Given the description of an element on the screen output the (x, y) to click on. 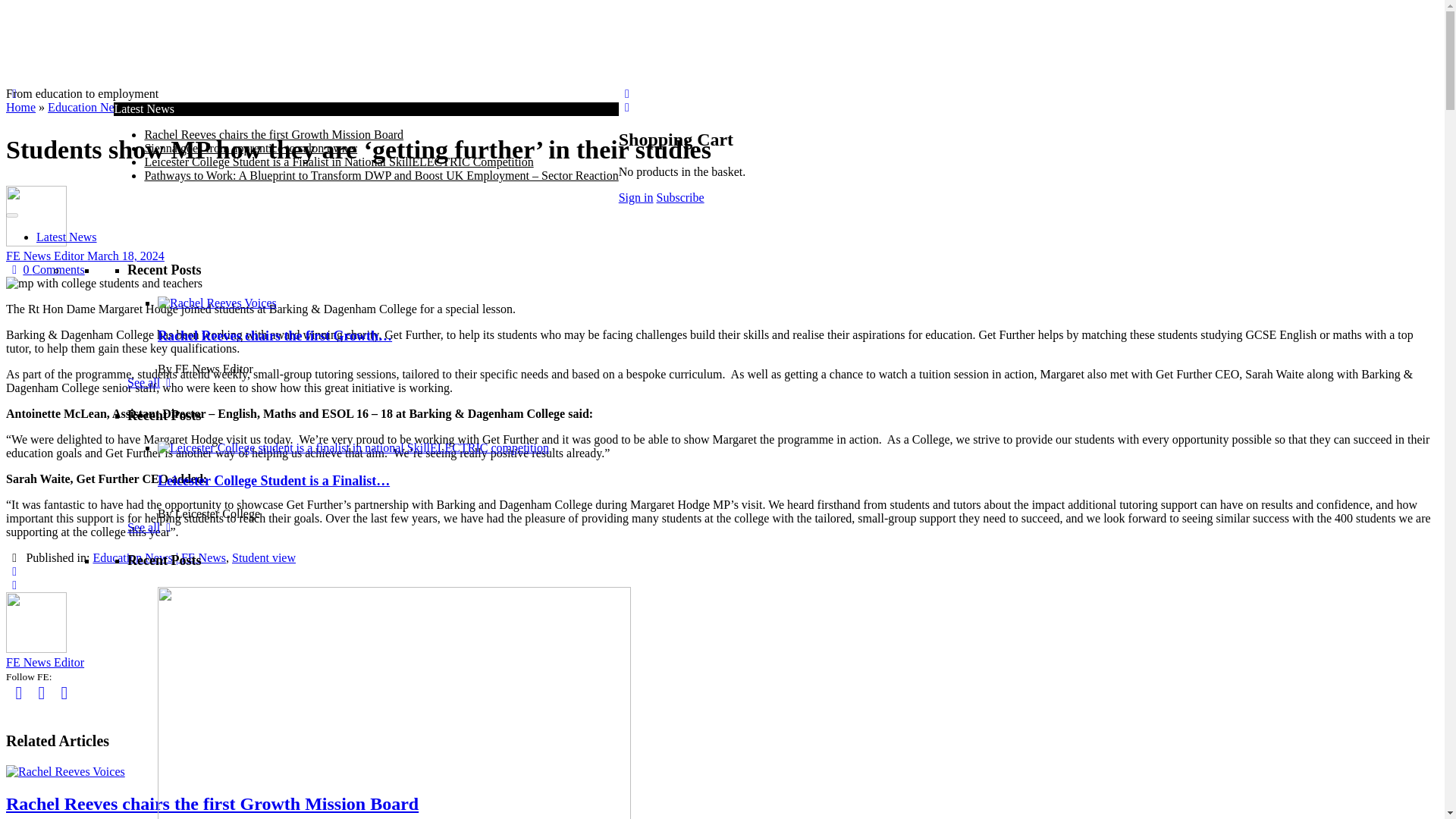
Rachel Reeves chairs the first Growth Mission Board (273, 133)
Sienna goes from apprentice to salon owner (250, 147)
Latest News (66, 236)
Subscribe (680, 196)
See all (152, 382)
Sign in (635, 196)
See all (152, 526)
